Given the description of an element on the screen output the (x, y) to click on. 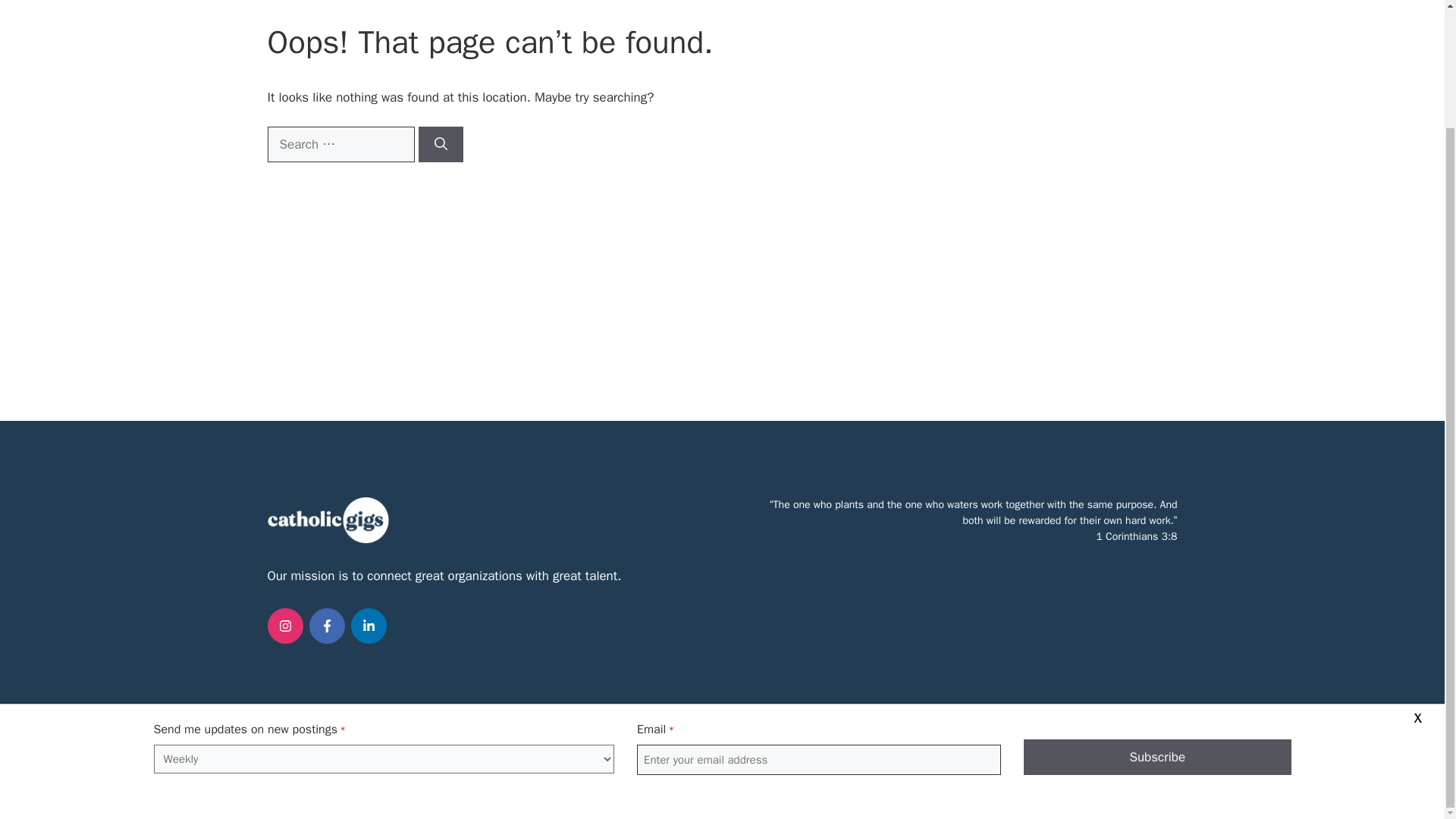
Subscribe (1157, 616)
CG-logo-standard-white-no-fill-rgb (327, 519)
x (1417, 575)
Report a Bug (722, 777)
Subscribe (1157, 616)
Search for: (339, 144)
